Given the description of an element on the screen output the (x, y) to click on. 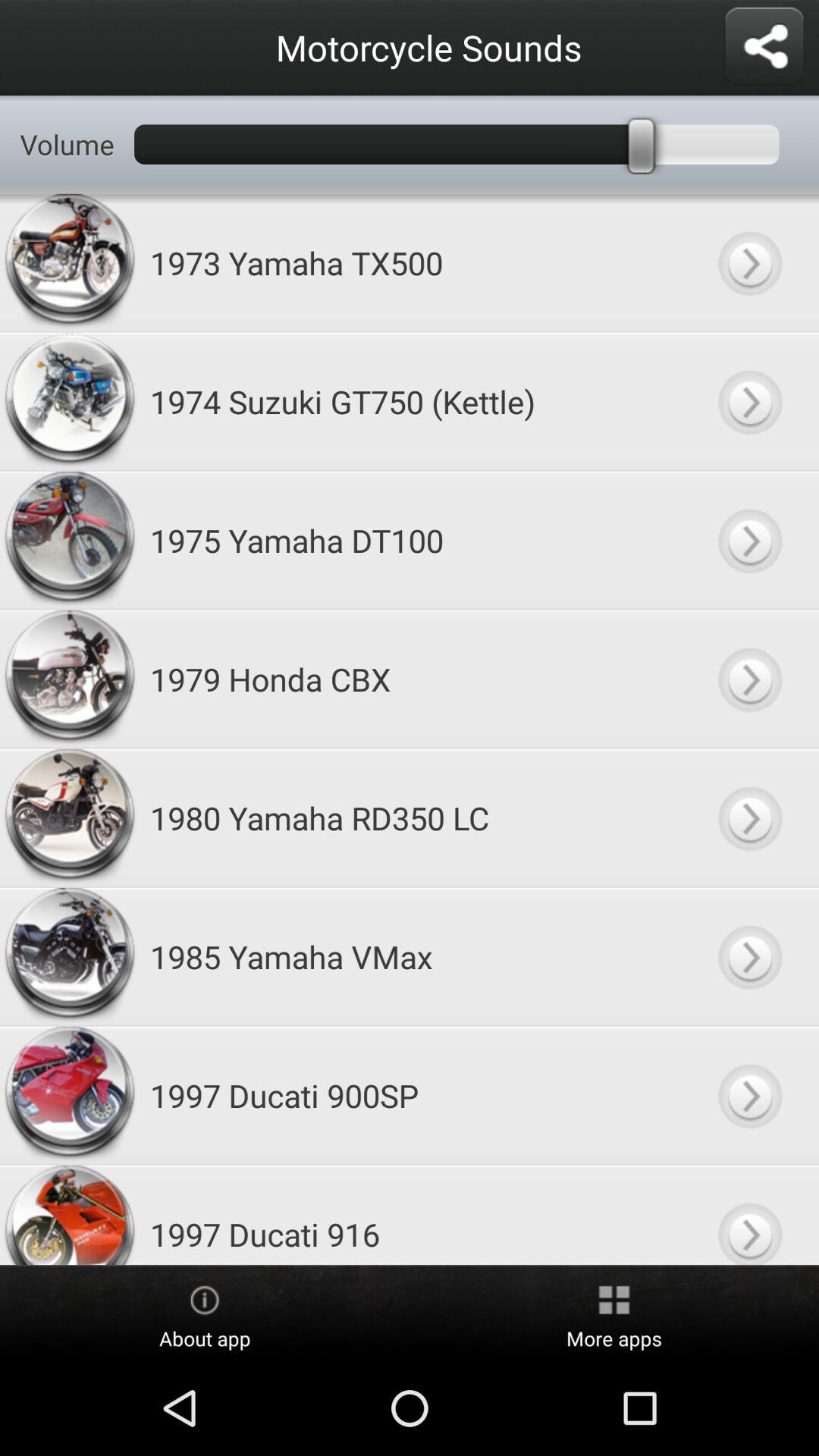
go to motorcycle (749, 401)
